Given the description of an element on the screen output the (x, y) to click on. 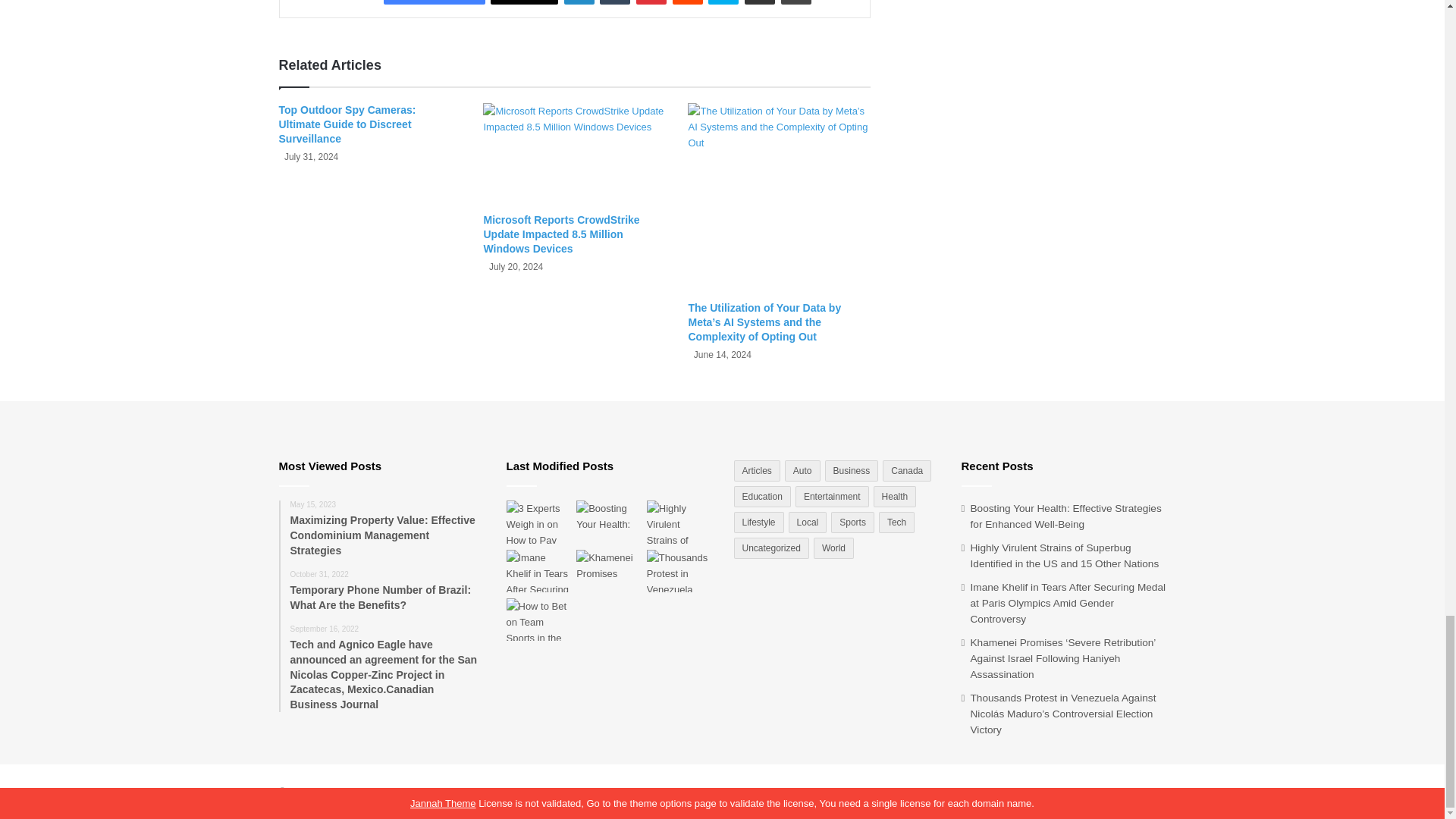
Tumblr (614, 2)
Facebook (434, 2)
Facebook (434, 2)
Reddit (687, 2)
Pinterest (651, 2)
X (523, 2)
Pinterest (651, 2)
LinkedIn (579, 2)
LinkedIn (579, 2)
Tumblr (614, 2)
